Given the description of an element on the screen output the (x, y) to click on. 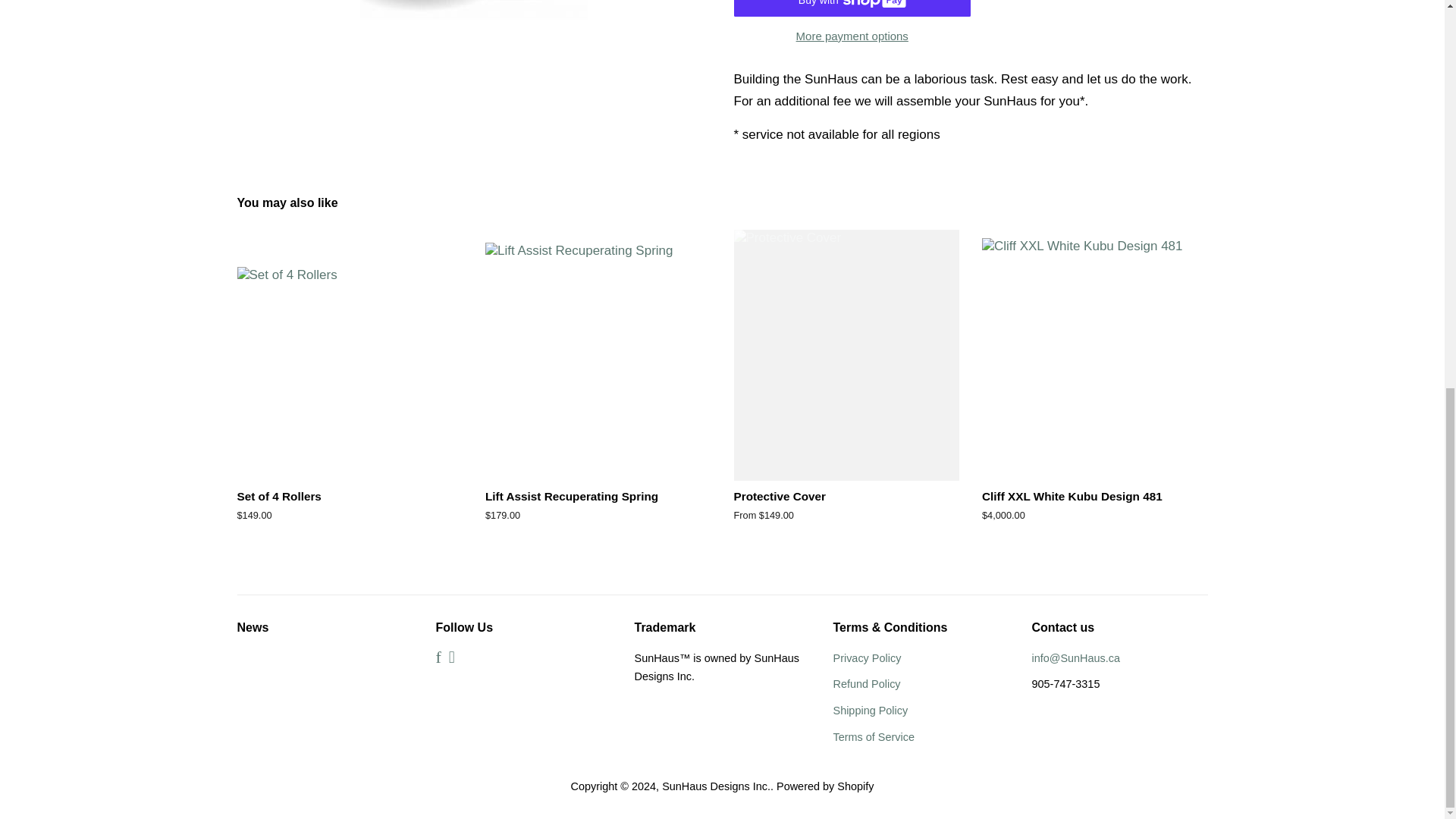
Privacy Policy (866, 657)
Terms of Service (873, 736)
Shipping Policy (869, 710)
Refund Policy (865, 684)
More payment options (852, 34)
Terms of Service (873, 736)
Shipping Policy (869, 710)
Privacy Policy (866, 657)
Powered by Shopify (824, 786)
Refund Policy (865, 684)
